Given the description of an element on the screen output the (x, y) to click on. 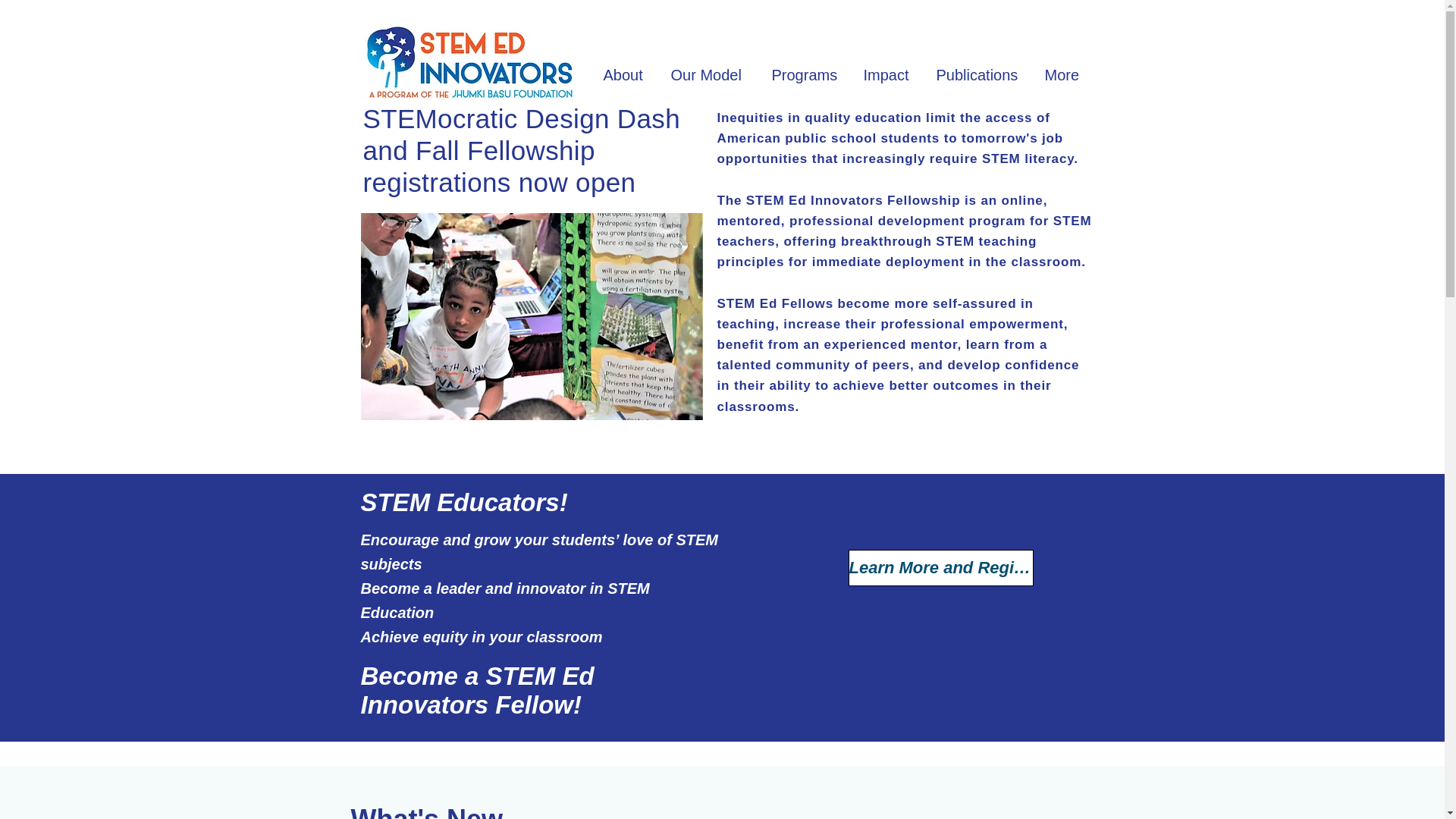
STEM Ed Innovators Fellowship  (854, 200)
Impact (886, 74)
Learn More and Register (939, 567)
Publications (977, 74)
Programs (805, 74)
About (625, 74)
